Given the description of an element on the screen output the (x, y) to click on. 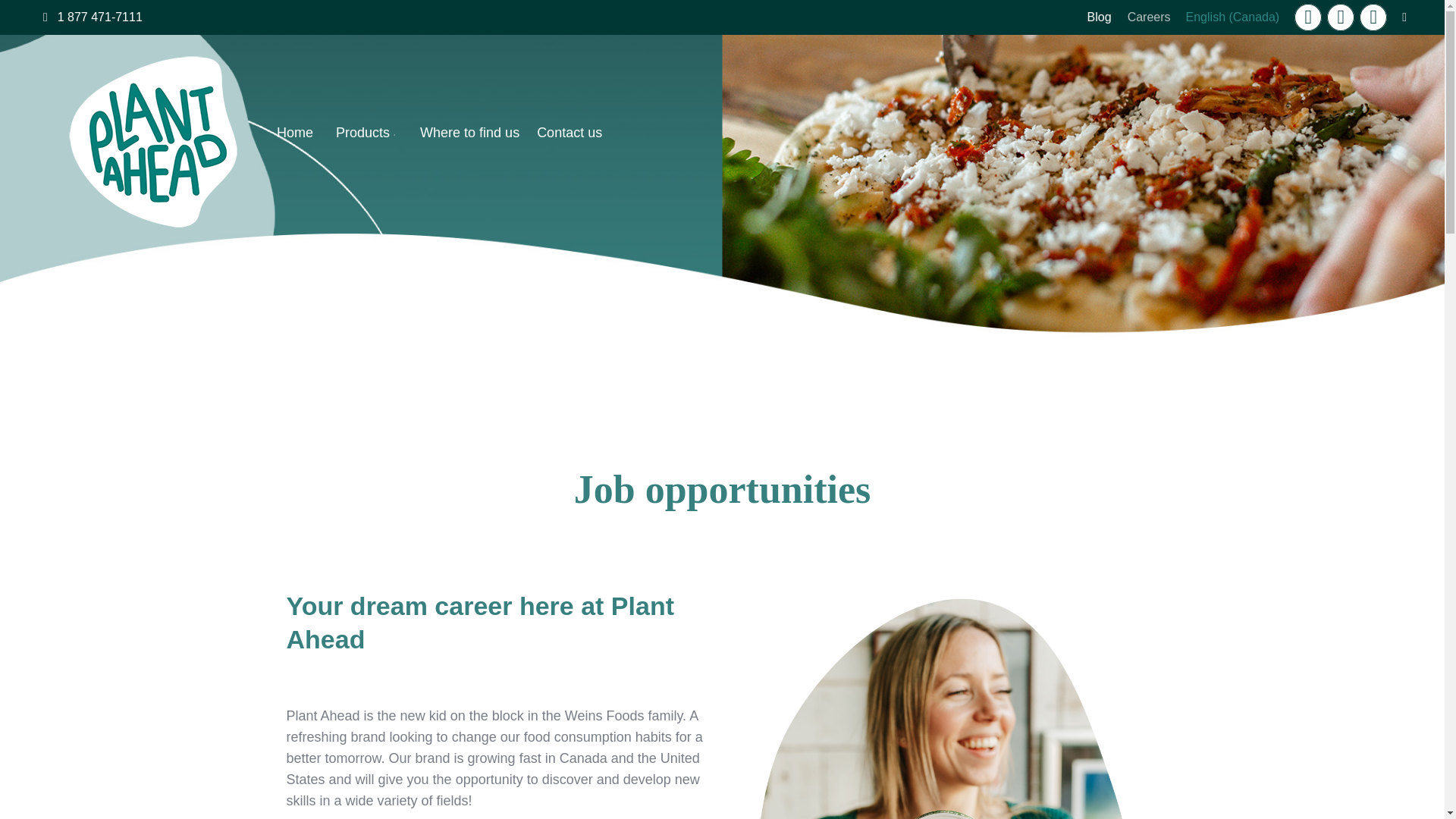
Blog (1099, 17)
Instagram page opens in new window (1340, 17)
Contact us (569, 139)
Careers (1148, 17)
Home (294, 139)
Instagram page opens in new window (1340, 17)
Linkedin page opens in new window (1373, 17)
Products (366, 139)
Where to find us (469, 139)
Facebook page opens in new window (1308, 17)
Facebook page opens in new window (1308, 17)
Linkedin page opens in new window (1373, 17)
1 877 471-7111 (100, 17)
